Given the description of an element on the screen output the (x, y) to click on. 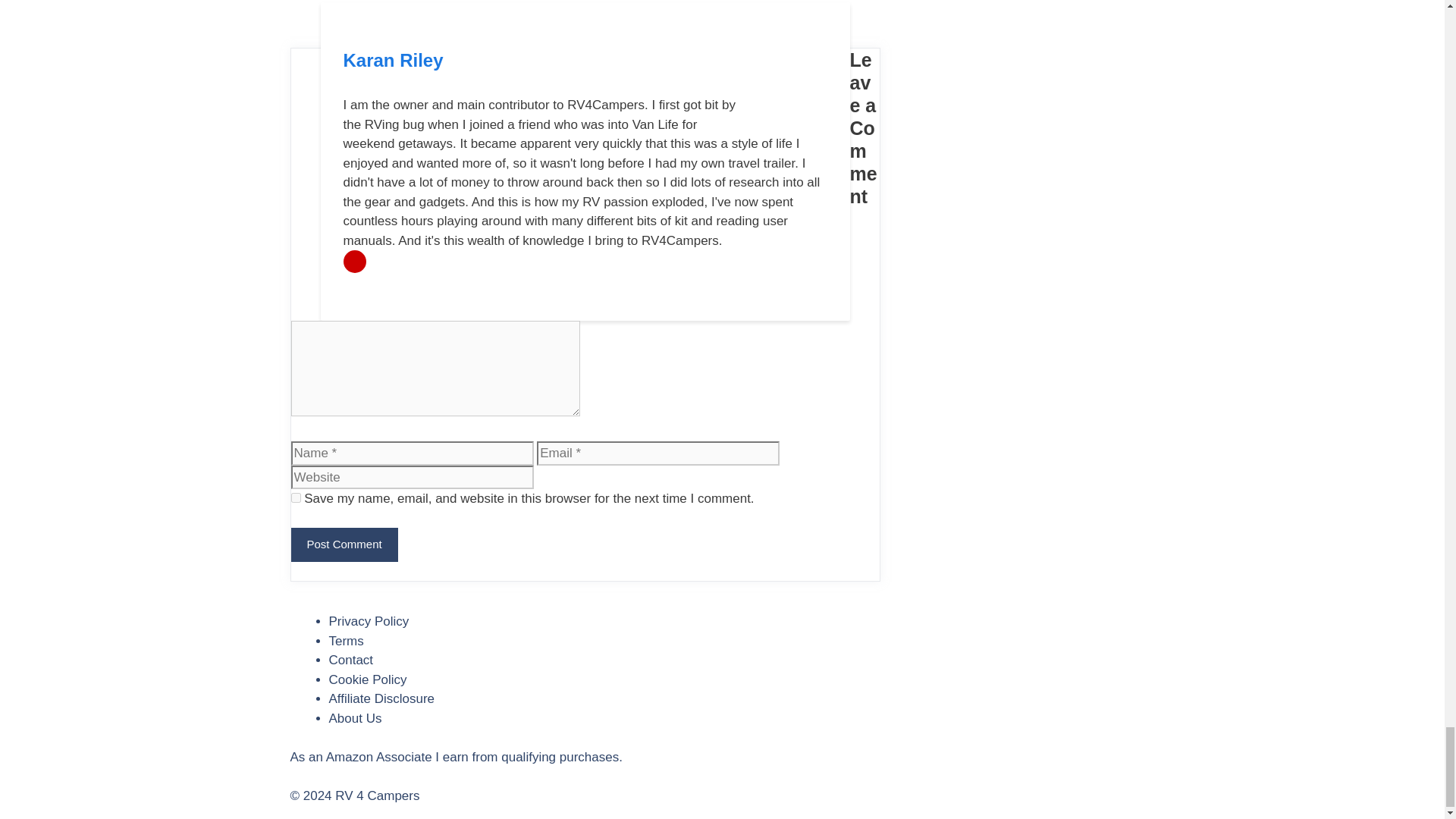
yes (296, 497)
Post Comment (344, 544)
Post Comment (344, 544)
Follow on Pinterest (353, 261)
Karan Riley (392, 59)
